Given the description of an element on the screen output the (x, y) to click on. 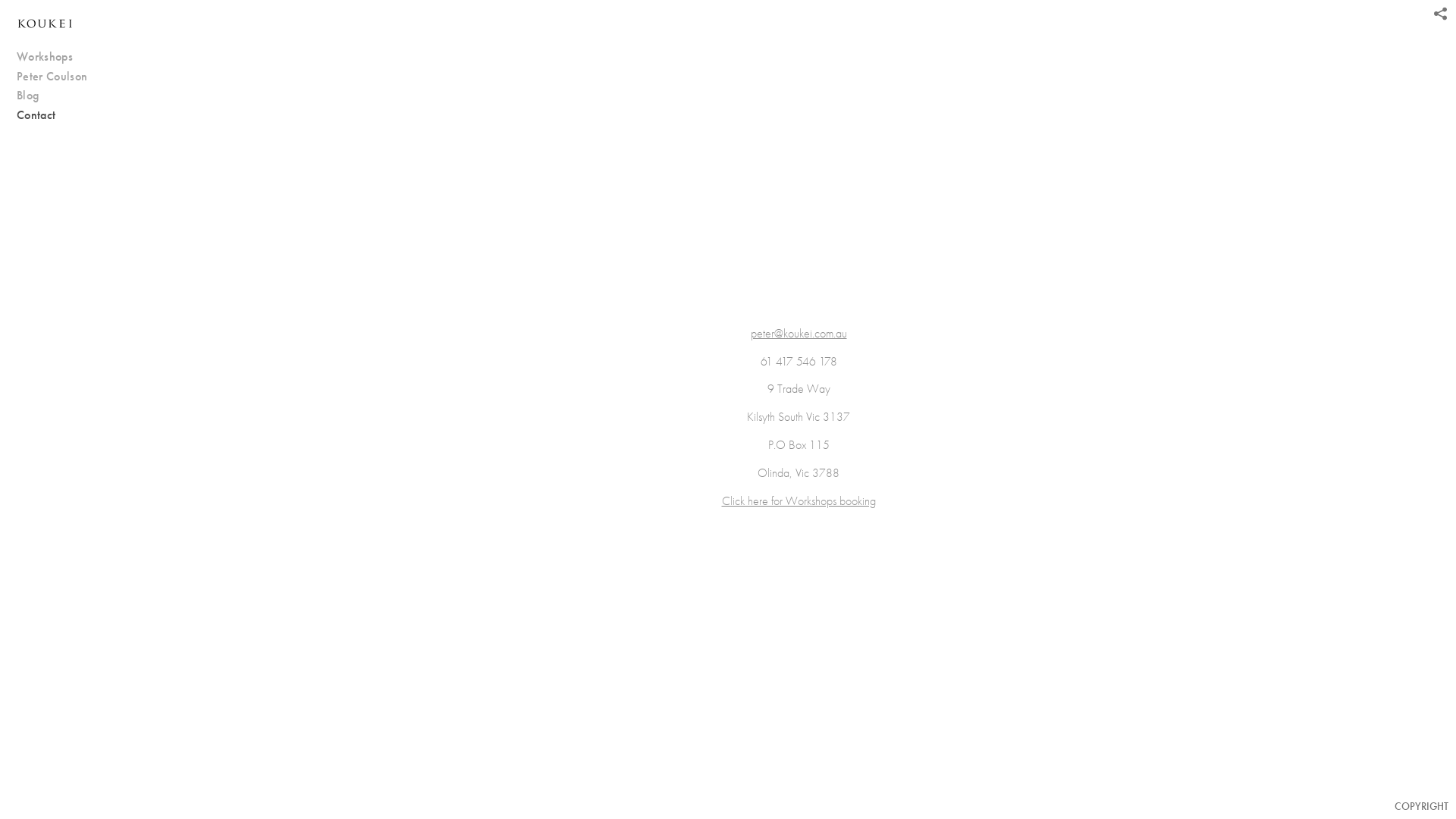
Contact Element type: text (71, 115)
Workshops Element type: text (71, 56)
peter@koukei.com.au Element type: text (798, 333)
Blog Element type: text (71, 95)
Click here for Workshops booking Element type: text (798, 500)
Peter Coulson Element type: text (71, 76)
